Given the description of an element on the screen output the (x, y) to click on. 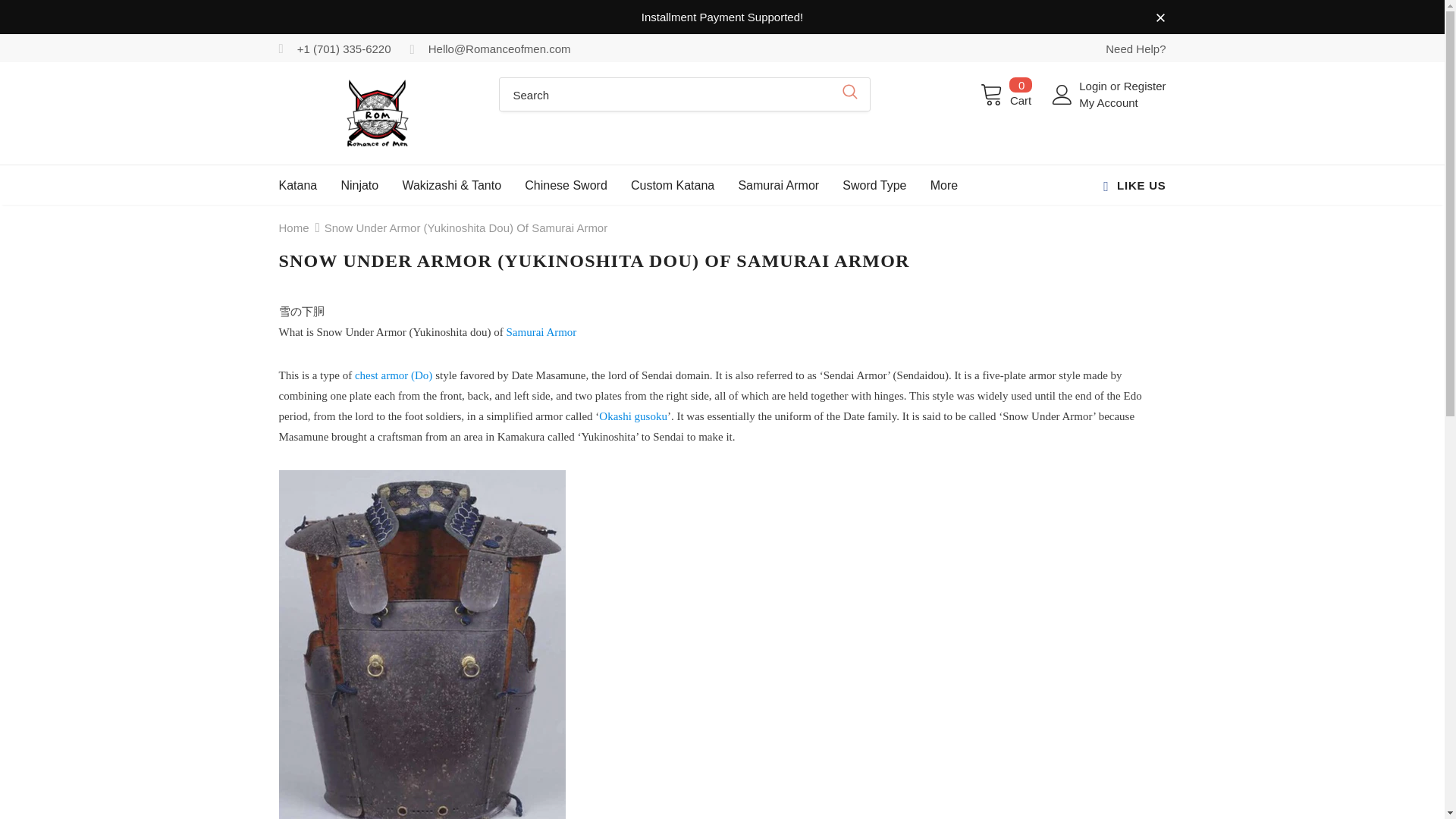
close (1160, 17)
Logo (377, 112)
Need Help? (1005, 92)
